Given the description of an element on the screen output the (x, y) to click on. 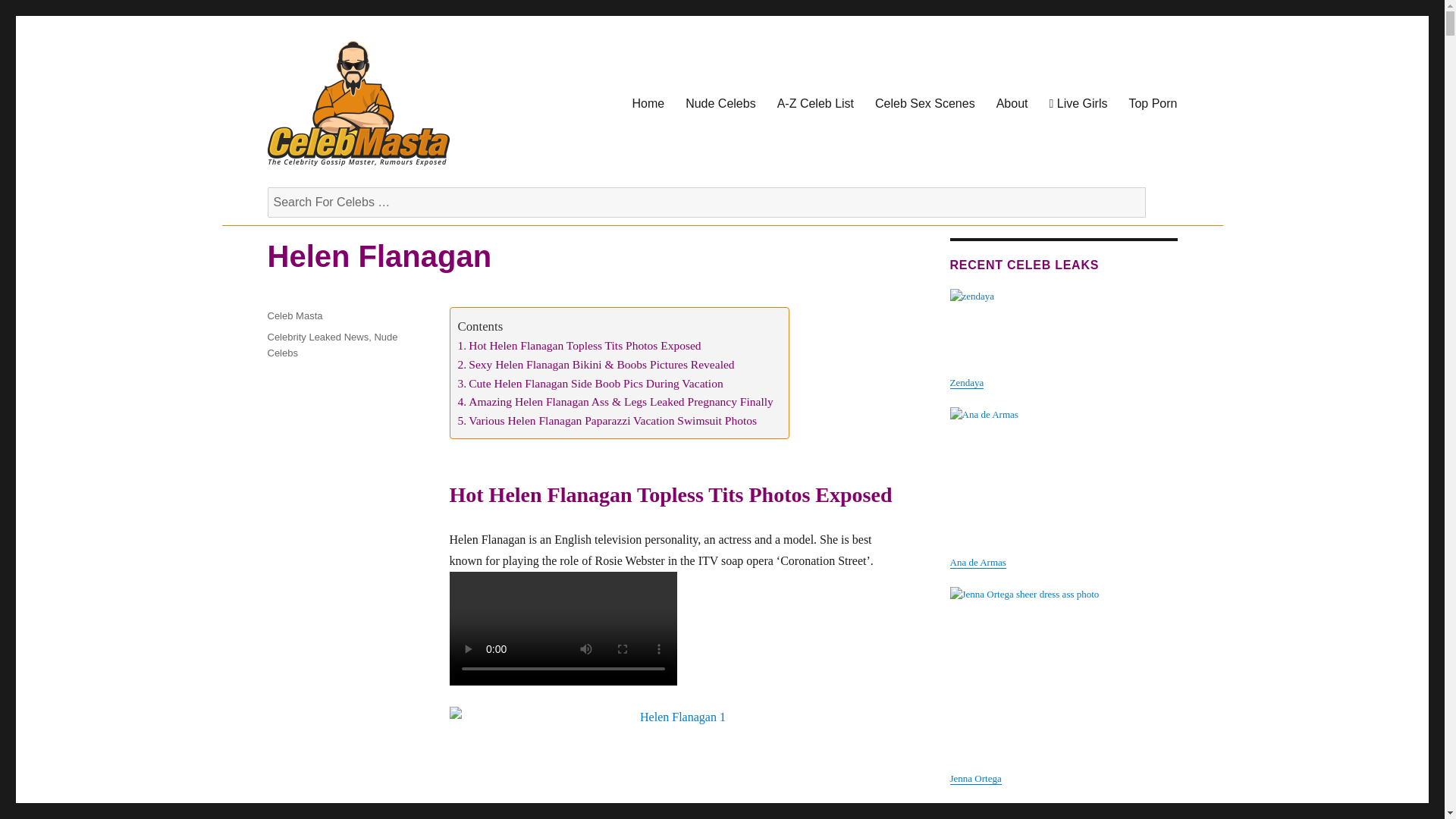
Celeb Masta (328, 189)
Cute Helen Flanagan Side Boob Pics During Vacation (590, 383)
Hot Helen Flanagan Topless Tits Photos Exposed (579, 345)
Home (648, 103)
Cute Helen Flanagan Side Boob Pics During Vacation (590, 383)
Hot Helen Flanagan Topless Tits Photos Exposed (579, 345)
A-Z Celeb List (815, 103)
About (1012, 103)
Celeb Sex Scenes (924, 103)
Top Porn (1153, 103)
Various Helen Flanagan Paparazzi Vacation Swimsuit Photos (607, 420)
Various Helen Flanagan Paparazzi Vacation Swimsuit Photos (607, 420)
Nude Celebs (721, 103)
SEARCH (1158, 205)
